Given the description of an element on the screen output the (x, y) to click on. 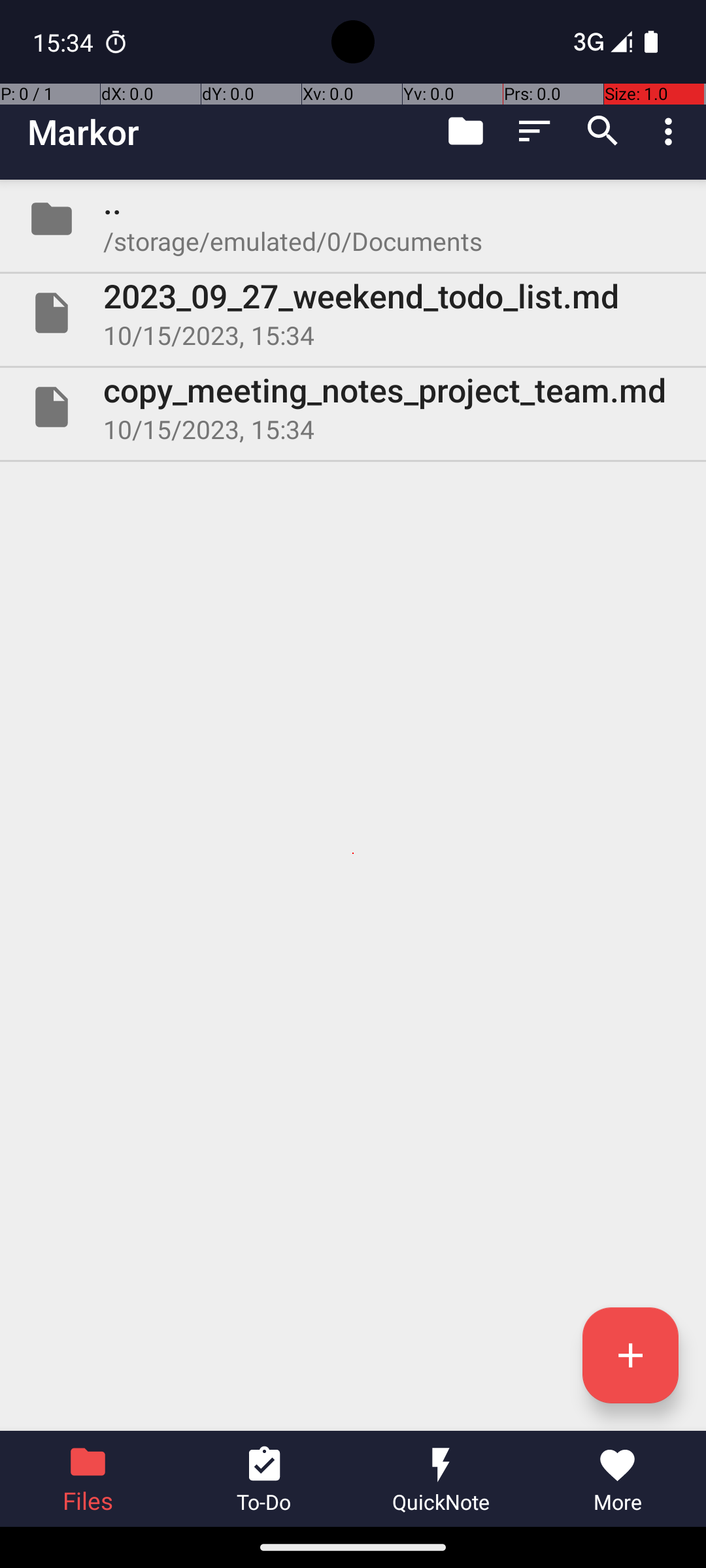
File 2023_09_27_weekend_todo_list.md  Element type: android.widget.LinearLayout (353, 312)
File copy_meeting_notes_project_team.md  Element type: android.widget.LinearLayout (353, 406)
